Given the description of an element on the screen output the (x, y) to click on. 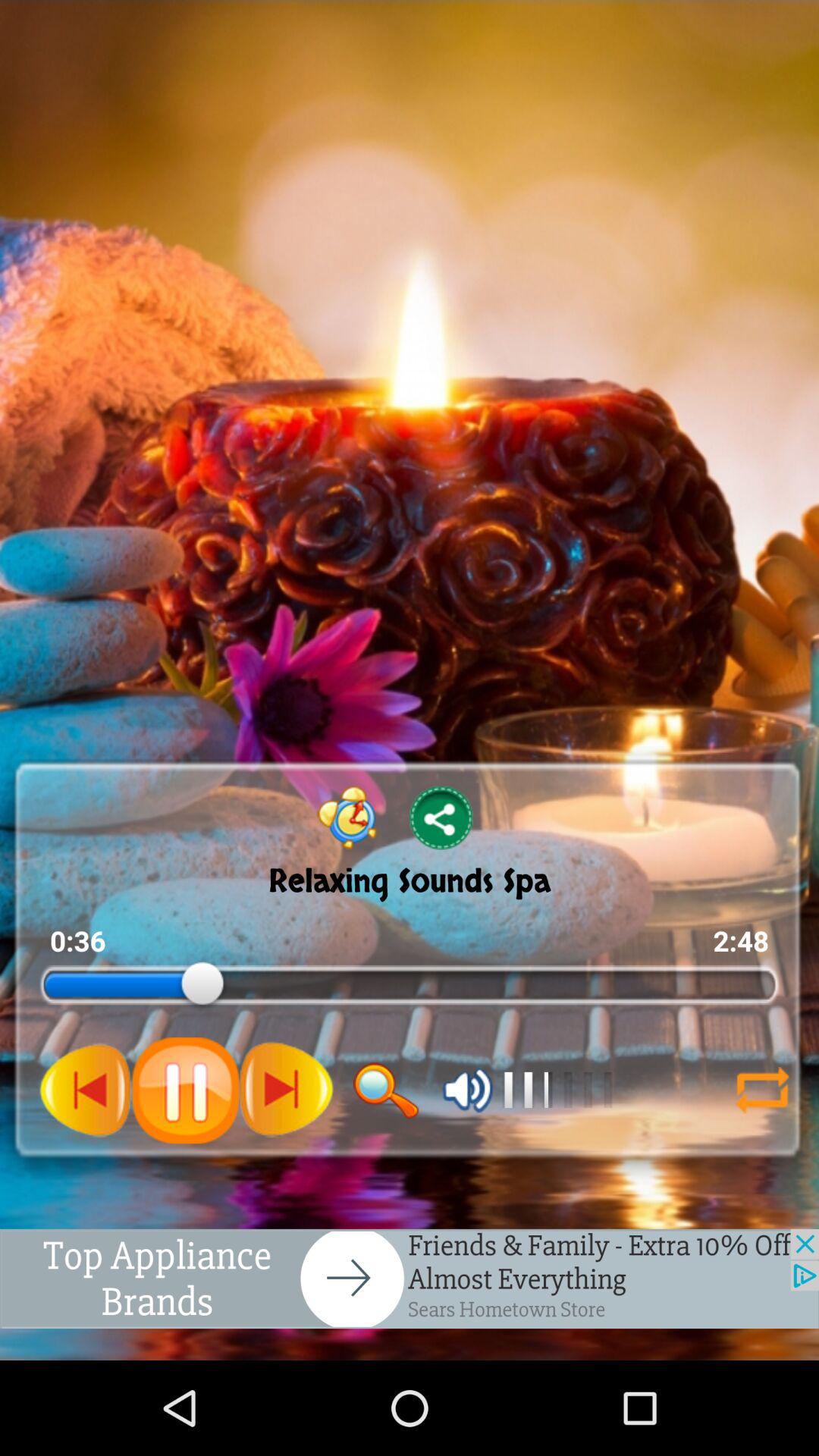
go backward option (85, 1090)
